Given the description of an element on the screen output the (x, y) to click on. 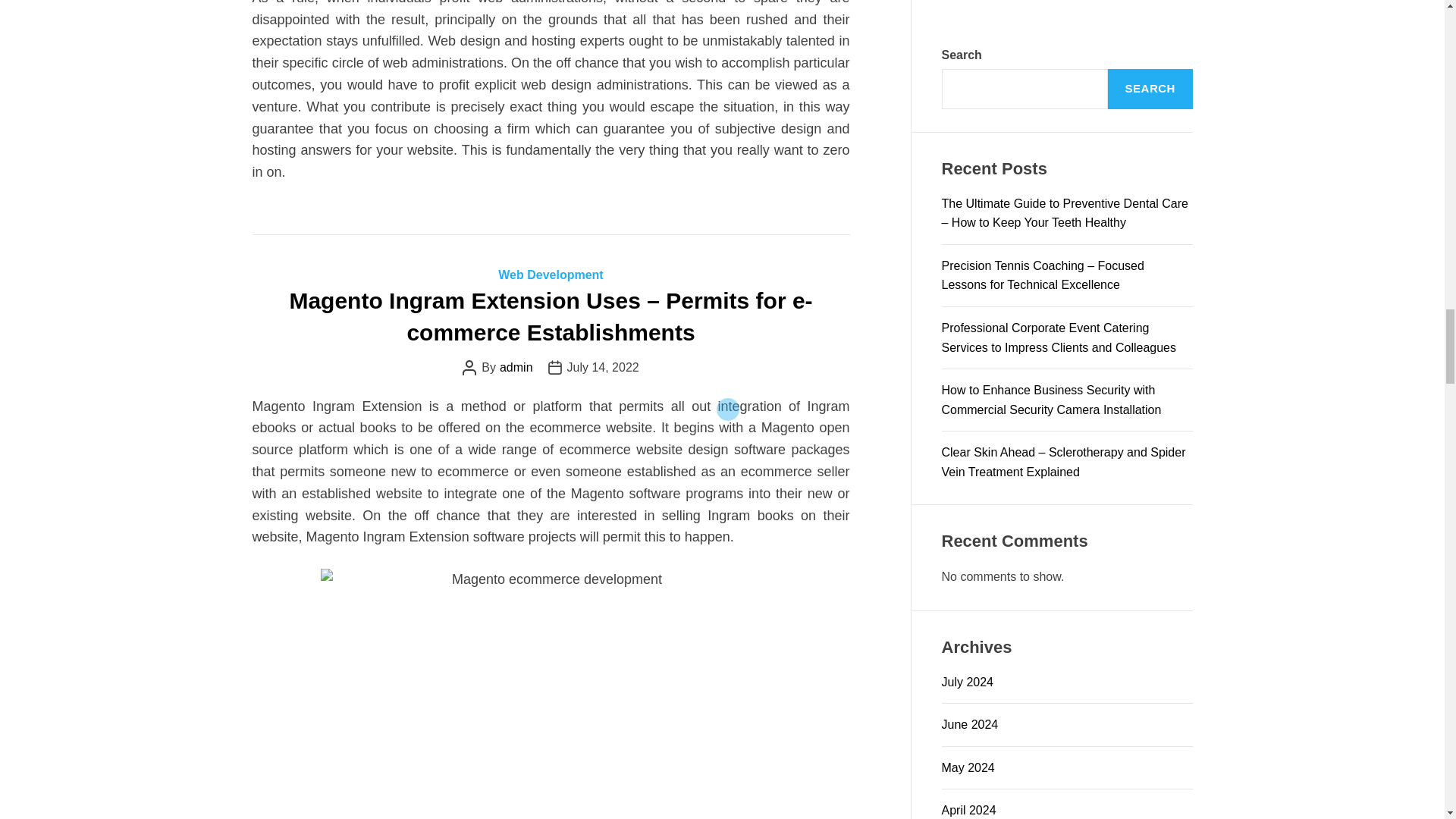
Web Development (549, 274)
admin (515, 367)
